Given the description of an element on the screen output the (x, y) to click on. 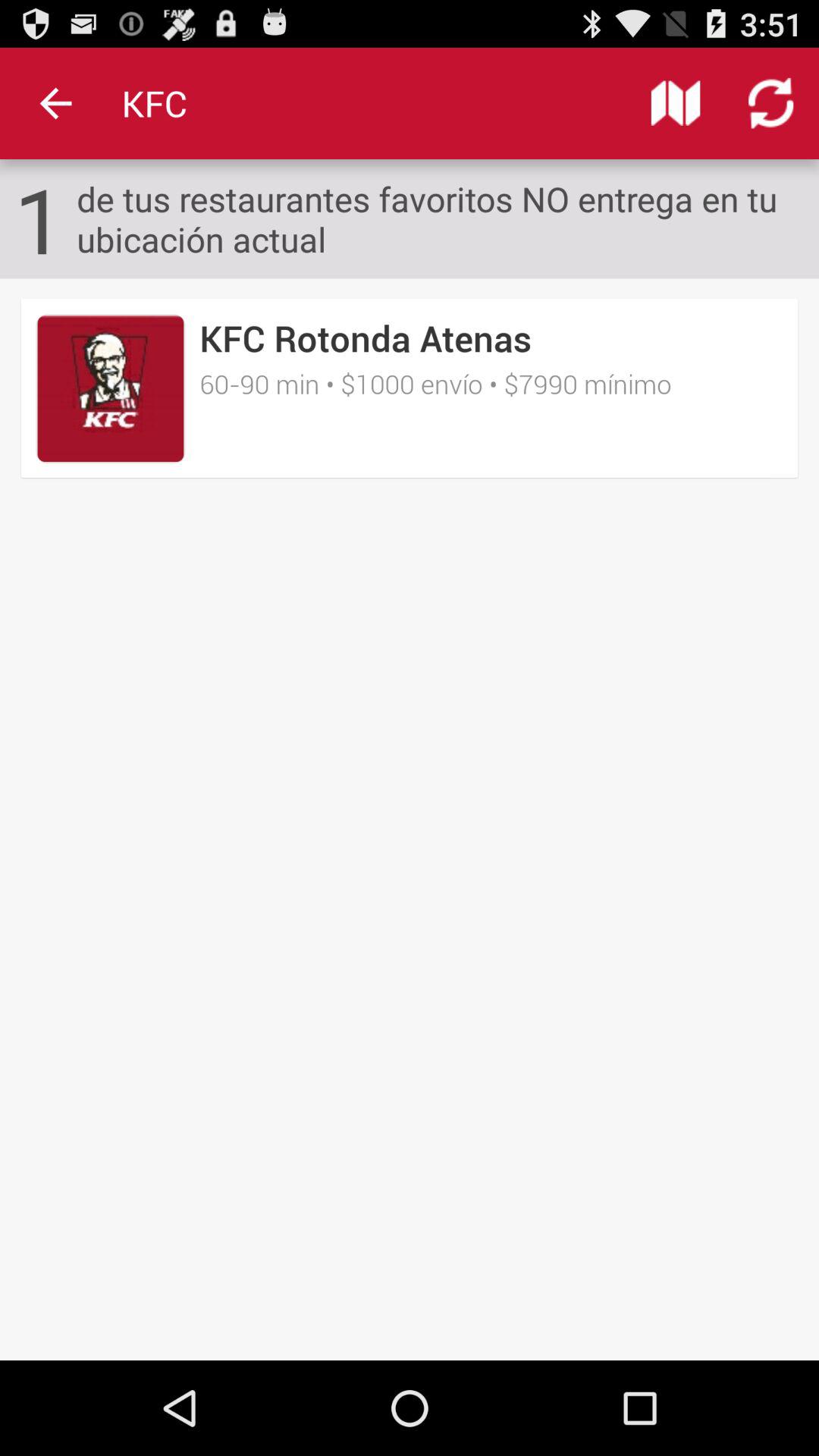
turn on item below the 1 item (409, 388)
